Given the description of an element on the screen output the (x, y) to click on. 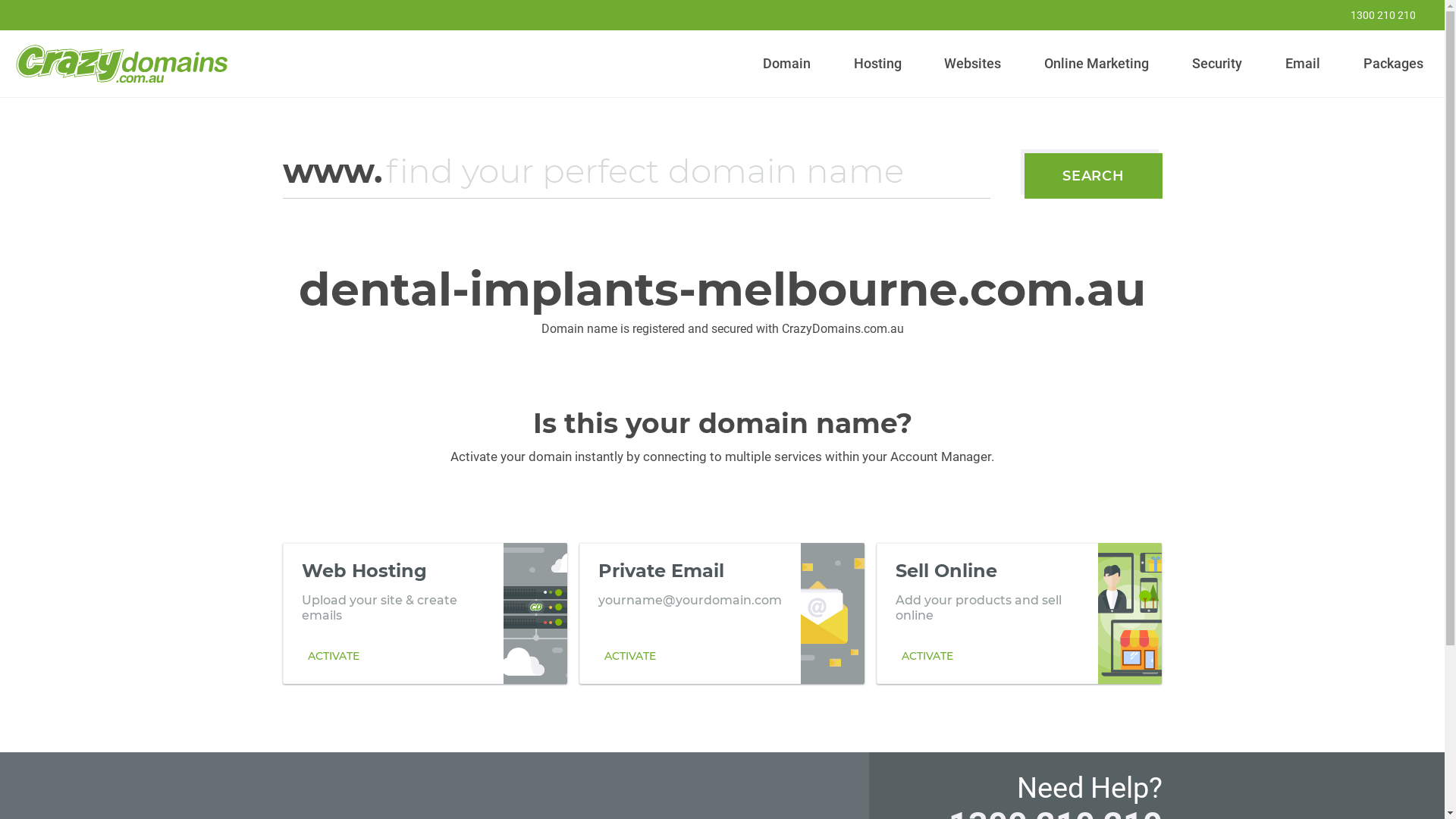
Sell Online
Add your products and sell online
ACTIVATE Element type: text (1018, 613)
Packages Element type: text (1392, 63)
Web Hosting
Upload your site & create emails
ACTIVATE Element type: text (424, 613)
Websites Element type: text (972, 63)
Email Element type: text (1302, 63)
SEARCH Element type: text (1092, 175)
1300 210 210 Element type: text (1373, 15)
Hosting Element type: text (877, 63)
Domain Element type: text (786, 63)
Security Element type: text (1217, 63)
Online Marketing Element type: text (1096, 63)
Private Email
yourname@yourdomain.com
ACTIVATE Element type: text (721, 613)
